Given the description of an element on the screen output the (x, y) to click on. 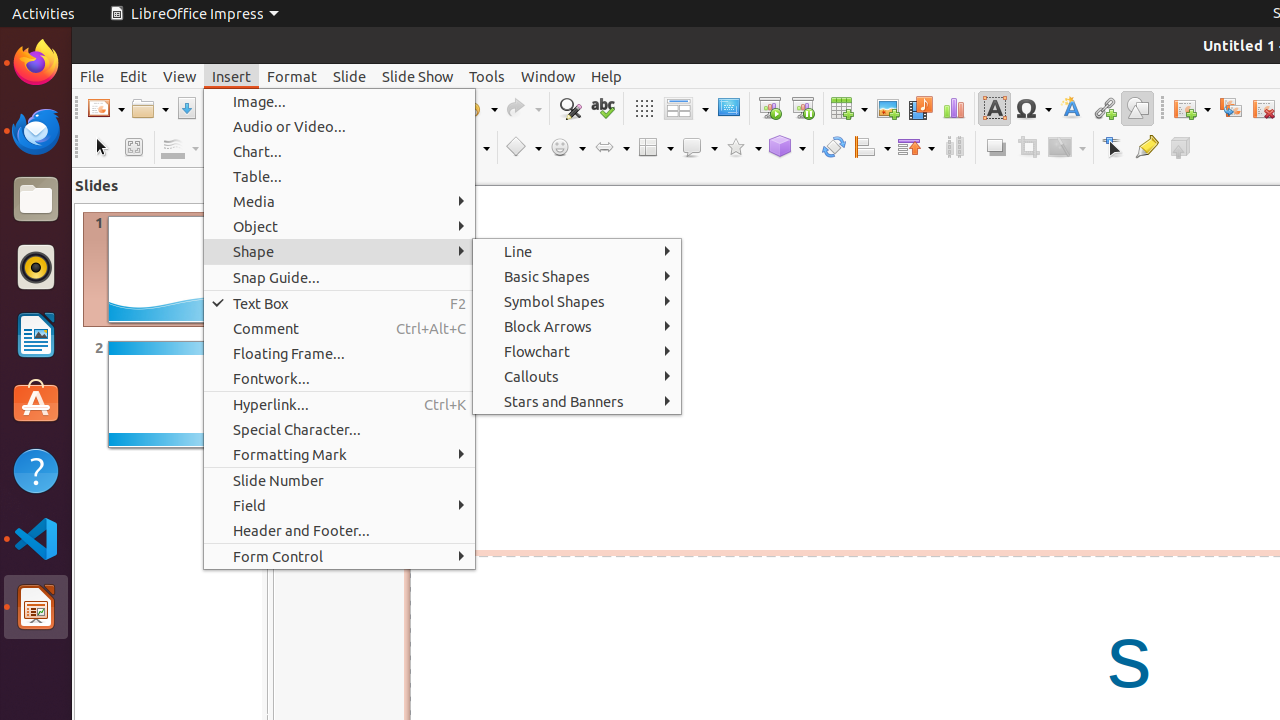
Rhythmbox Element type: push-button (36, 267)
Slide Show Element type: menu (417, 76)
Line Color Element type: push-button (180, 147)
LibreOffice Impress Element type: push-button (36, 607)
Stars and Banners Element type: menu (577, 401)
